Given the description of an element on the screen output the (x, y) to click on. 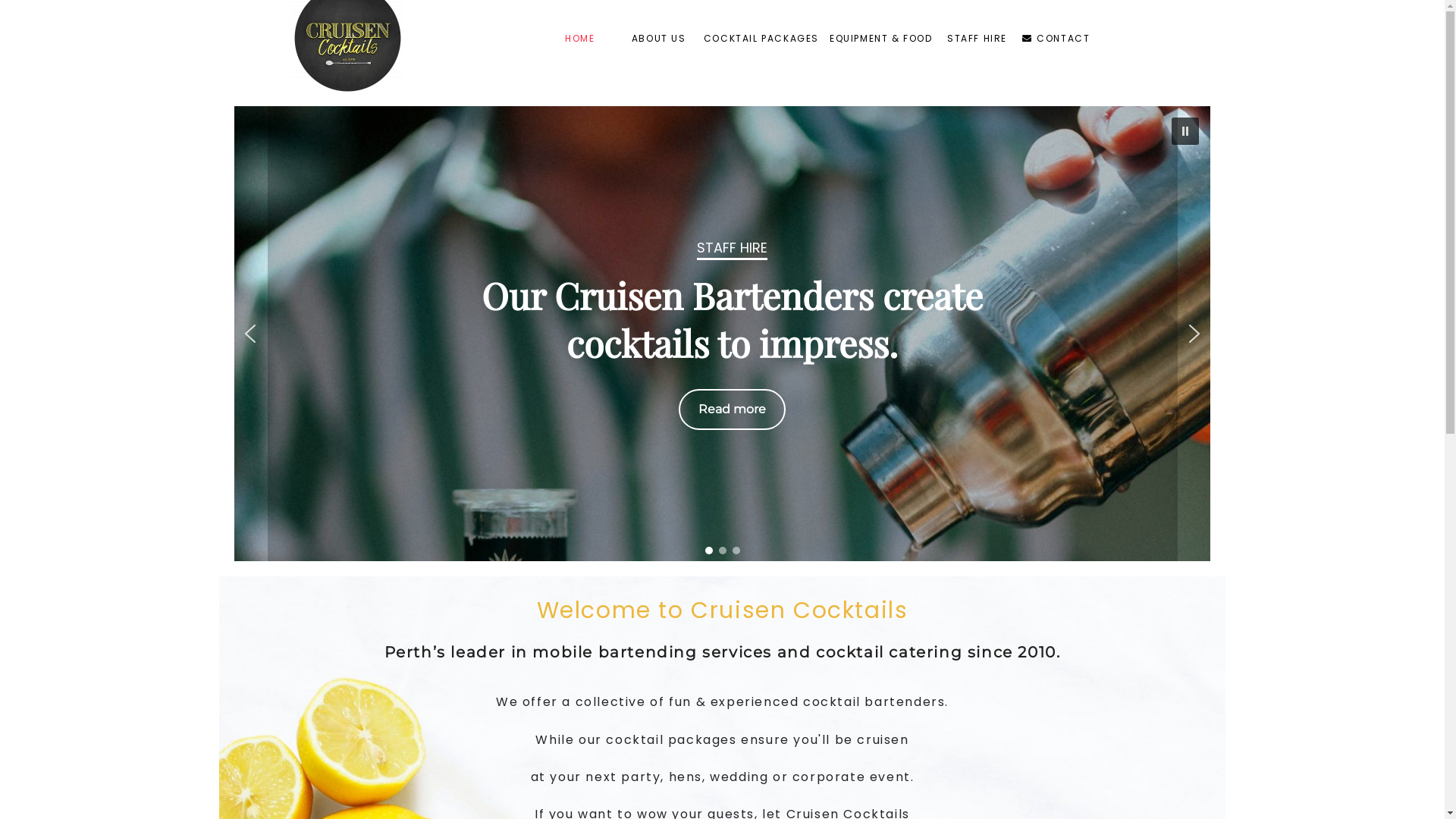
HOME Element type: text (580, 40)
ABOUT US Element type: text (658, 40)
COCKTAIL PACKAGES Element type: text (760, 40)
CONTACT Element type: text (1055, 40)
Read more Element type: text (730, 409)
STAFF HIRE Element type: text (977, 40)
EQUIPMENT & FOOD Element type: text (880, 40)
